Given the description of an element on the screen output the (x, y) to click on. 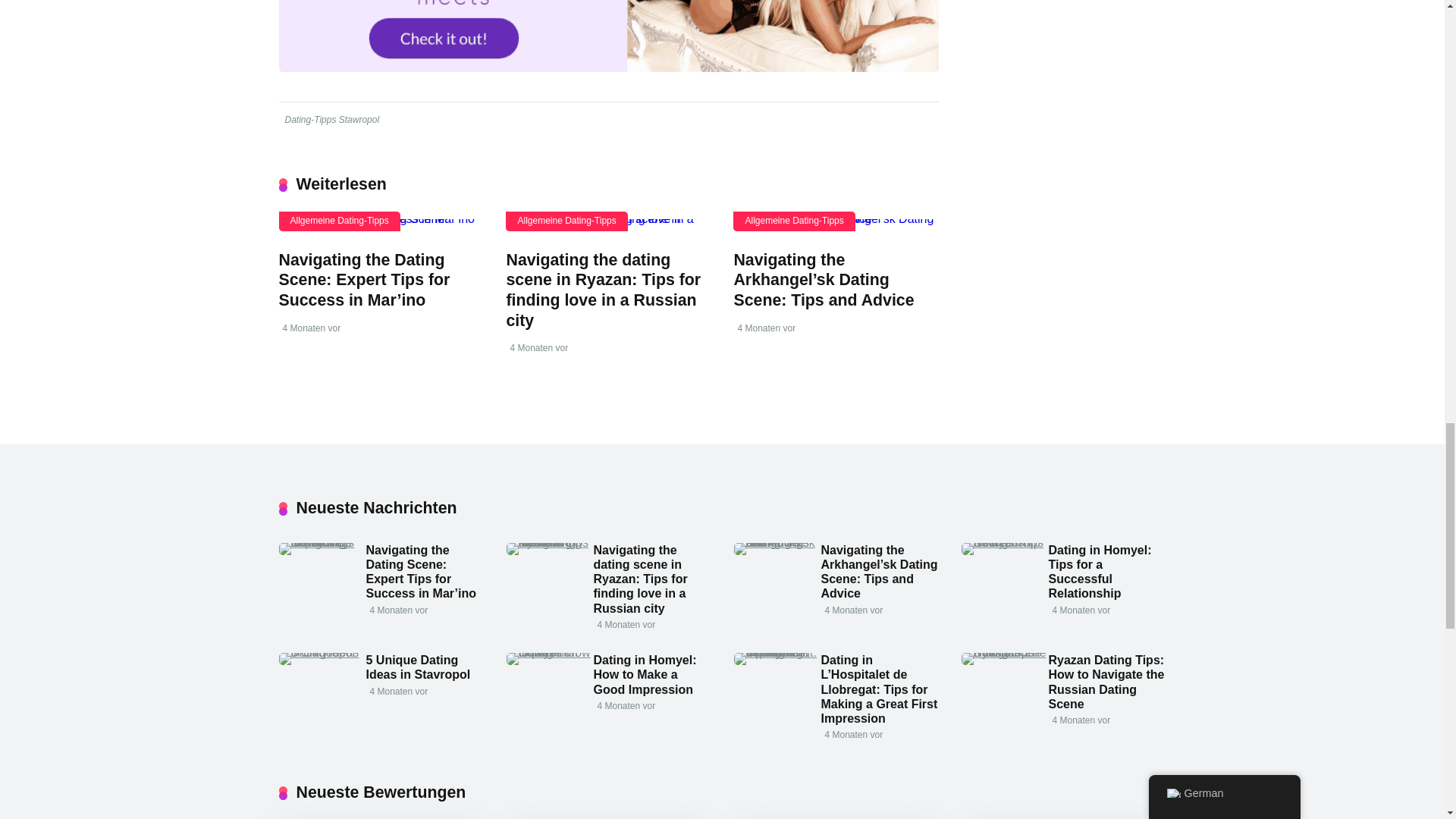
Allgemeine Dating-Tipps (793, 220)
Allgemeine Dating-Tipps (339, 220)
Dating-Tipps Stawropol (330, 119)
Allgemeine Dating-Tipps (566, 220)
Dating in Homyel: Tips for a Successful Relationship (1099, 572)
Dating in Homyel: Tips for a Successful Relationship (1004, 542)
